Given the description of an element on the screen output the (x, y) to click on. 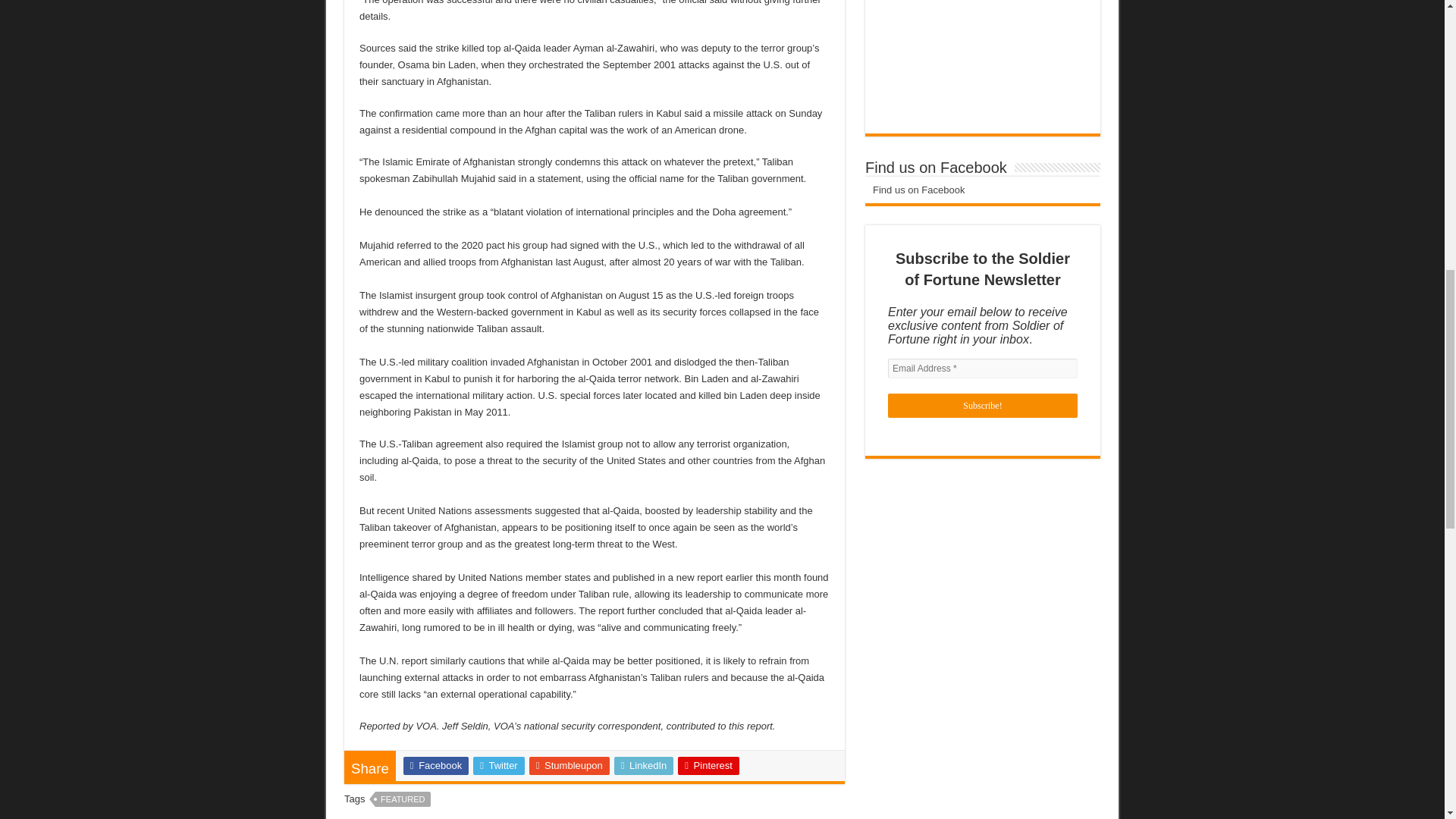
Facebook (435, 765)
Twitter (498, 765)
Stumbleupon (569, 765)
Subscribe! (982, 405)
LinkedIn (644, 765)
